Given the description of an element on the screen output the (x, y) to click on. 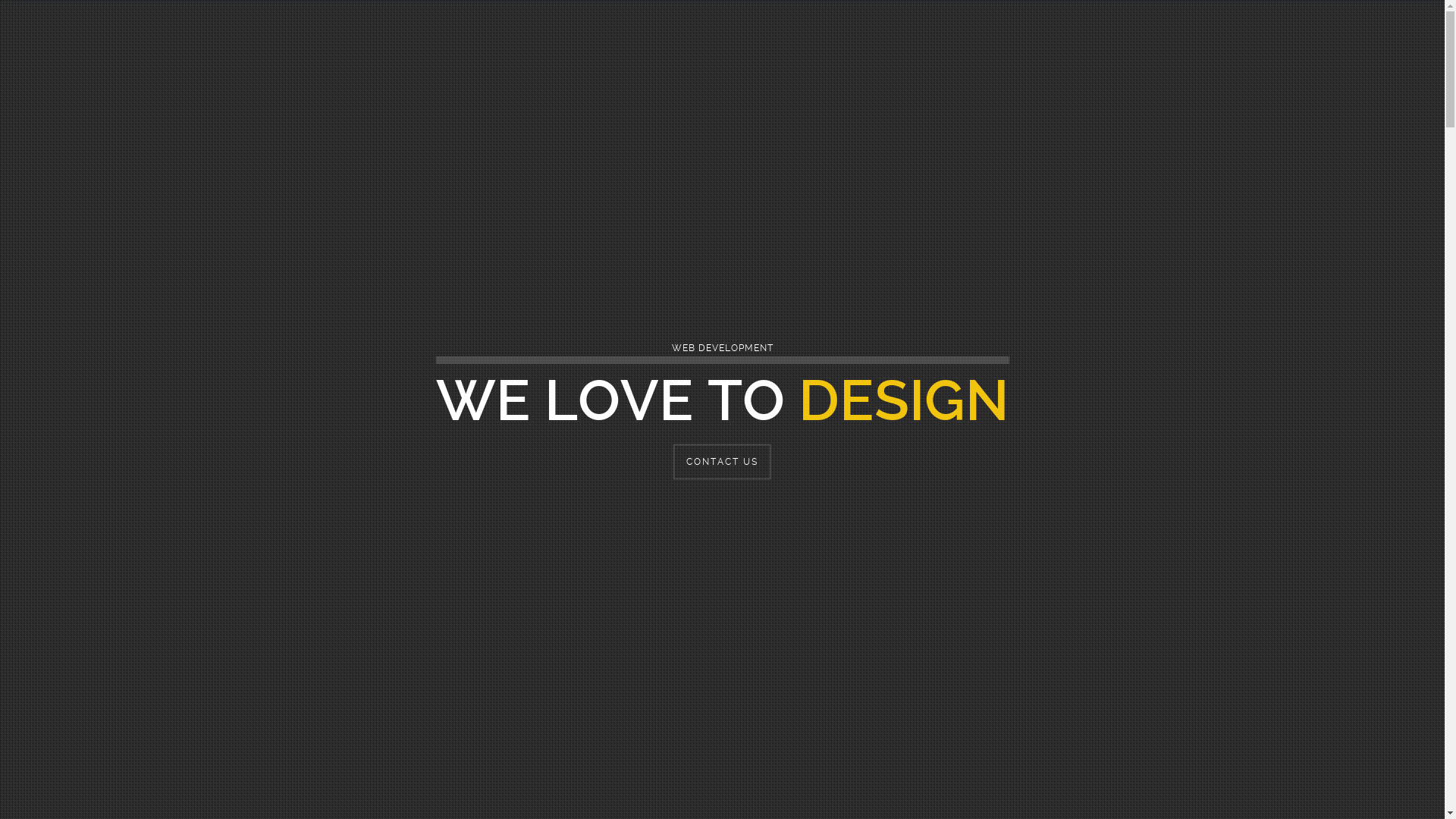
CONTACT US Element type: text (722, 462)
